Given the description of an element on the screen output the (x, y) to click on. 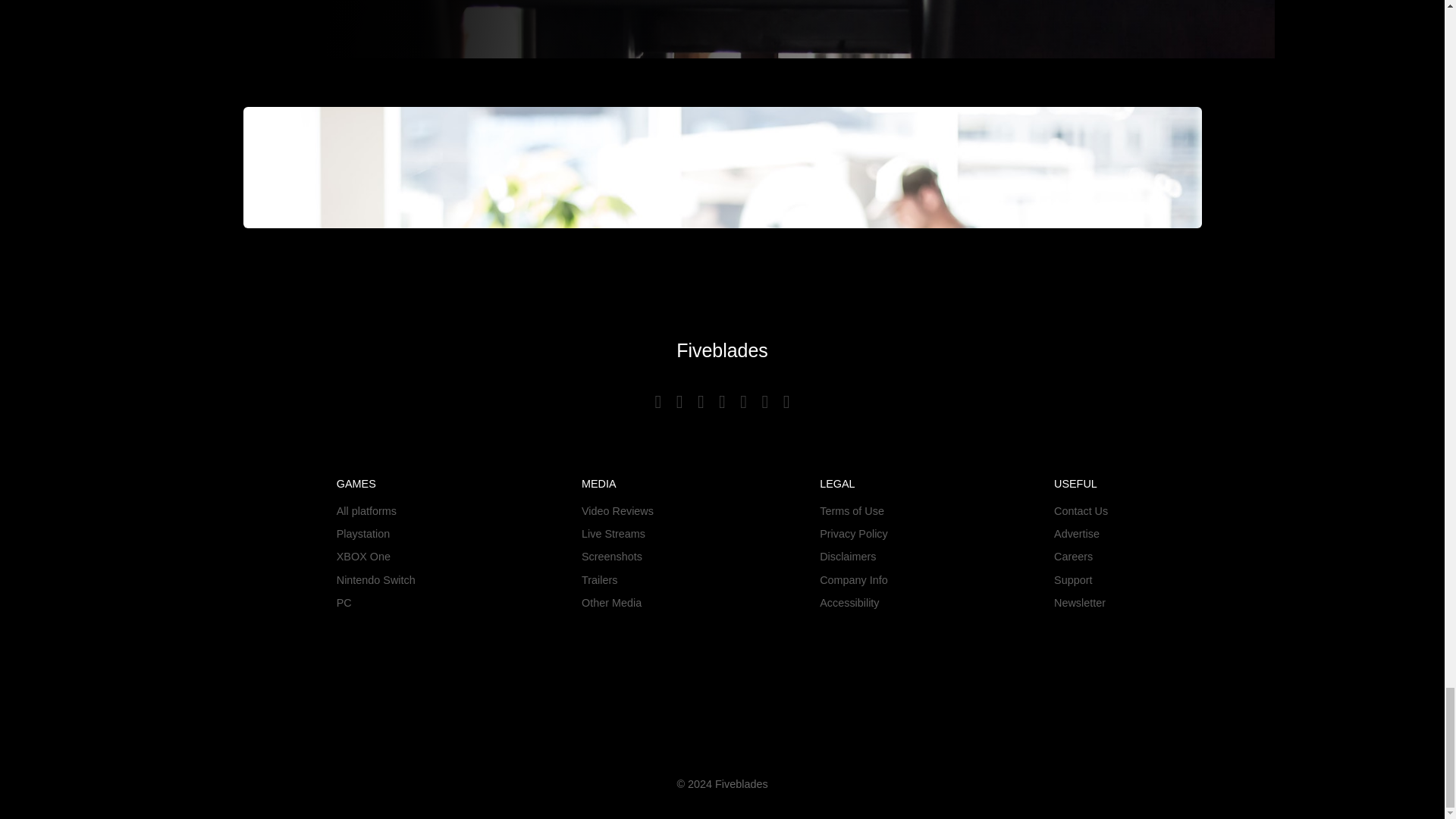
Facebook (682, 401)
YouTube (660, 401)
Fiveblades (722, 350)
